Given the description of an element on the screen output the (x, y) to click on. 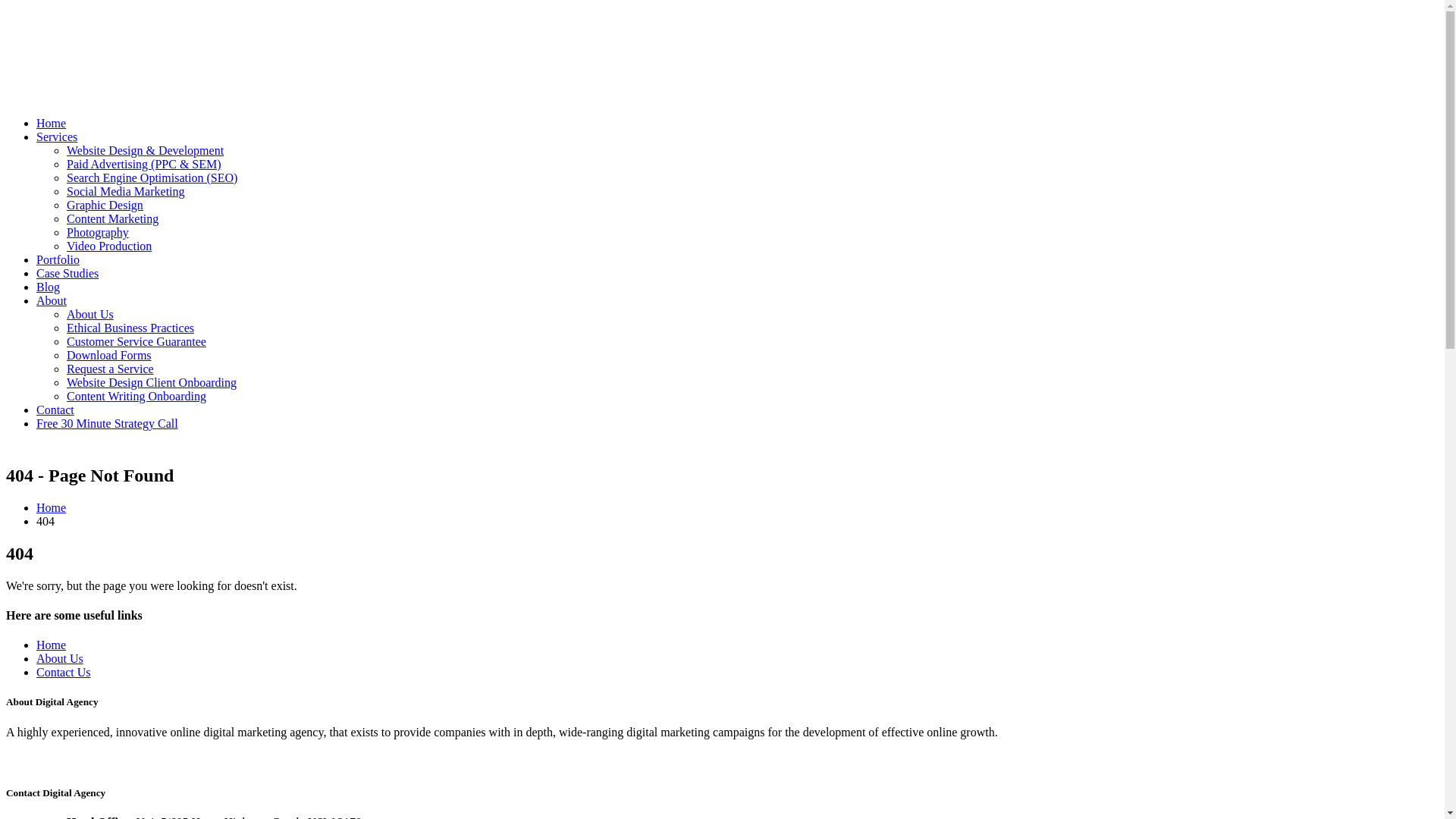
Photography Element type: text (97, 231)
About Element type: text (51, 300)
Video Production Element type: text (108, 245)
Case Studies Element type: text (67, 272)
Download Forms Element type: text (108, 354)
Blog Element type: text (47, 286)
Contact Us Element type: text (63, 671)
Content Writing Onboarding Element type: text (136, 395)
Paid Advertising (PPC & SEM) Element type: text (143, 163)
Home Element type: text (50, 507)
Contact Element type: text (55, 409)
Website Design Client Onboarding Element type: text (151, 382)
Customer Service Guarantee Element type: text (136, 341)
Home Element type: text (50, 644)
Search Engine Optimisation (SEO) Element type: text (151, 177)
Ethical Business Practices Element type: text (130, 327)
Portfolio Element type: text (57, 259)
Website Design & Development Element type: text (144, 150)
Services Element type: text (56, 136)
Request a Service Element type: text (109, 368)
About Us Element type: text (89, 313)
Netplanet Digital - Digital Marketing Agency in Sydney Element type: hover (51, 81)
About Us Element type: text (59, 658)
Home Element type: text (50, 122)
Social Media Marketing Element type: text (125, 191)
Graphic Design Element type: text (104, 204)
Free 30 Minute Strategy Call Element type: text (107, 423)
Content Marketing Element type: text (112, 218)
